Given the description of an element on the screen output the (x, y) to click on. 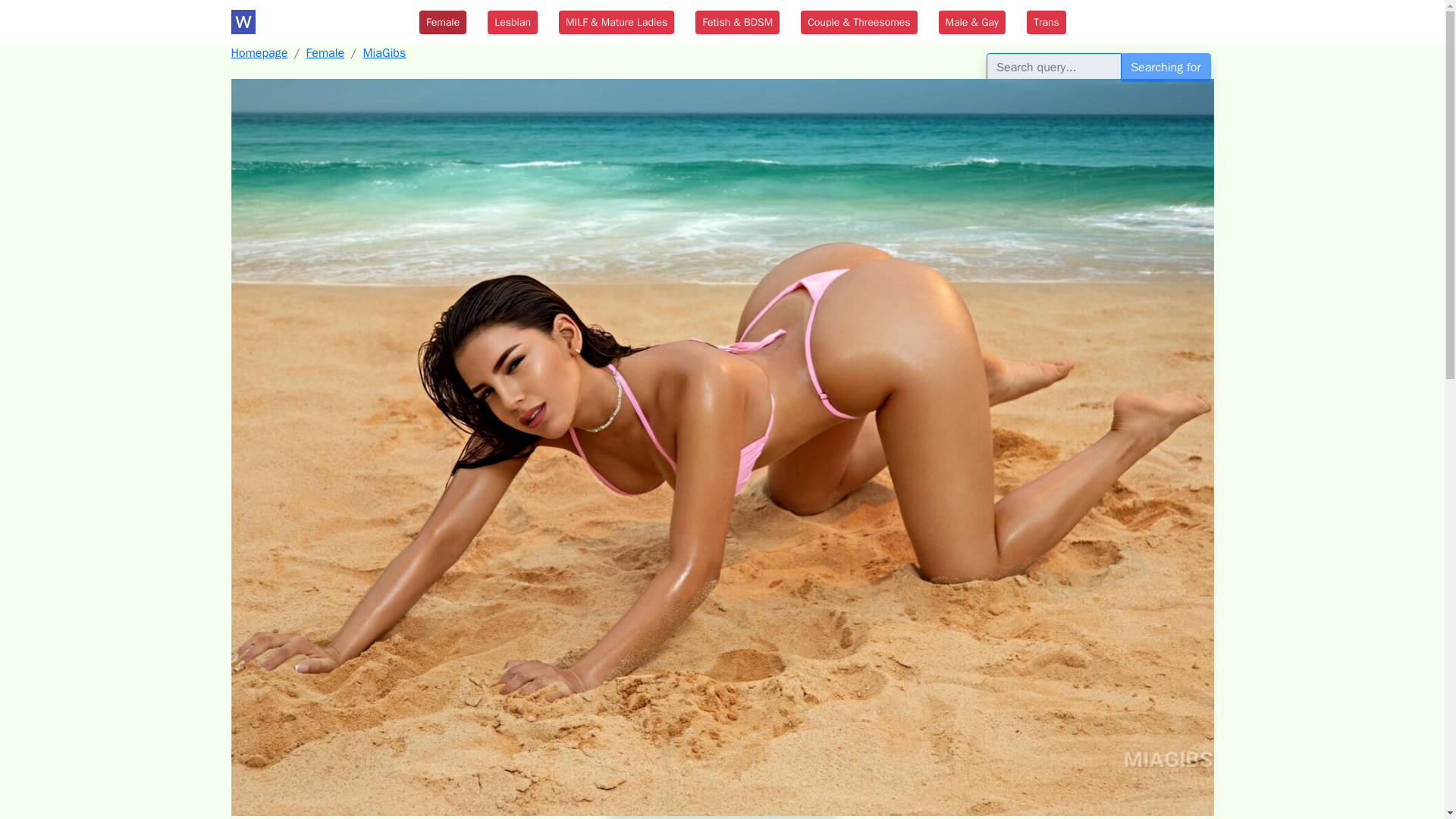
Waxfeather Magazine (313, 21)
Lesbian (512, 22)
Searching for (1165, 67)
Waxfeather Magazine (313, 21)
MiaGibs's Premium Pictures and Videos (722, 801)
Female (324, 52)
MiaGibs (384, 52)
Female (442, 22)
Female (324, 52)
Female (442, 22)
Lesbian (512, 22)
Trans (1045, 22)
Homepage (258, 52)
Trans (1045, 22)
